Given the description of an element on the screen output the (x, y) to click on. 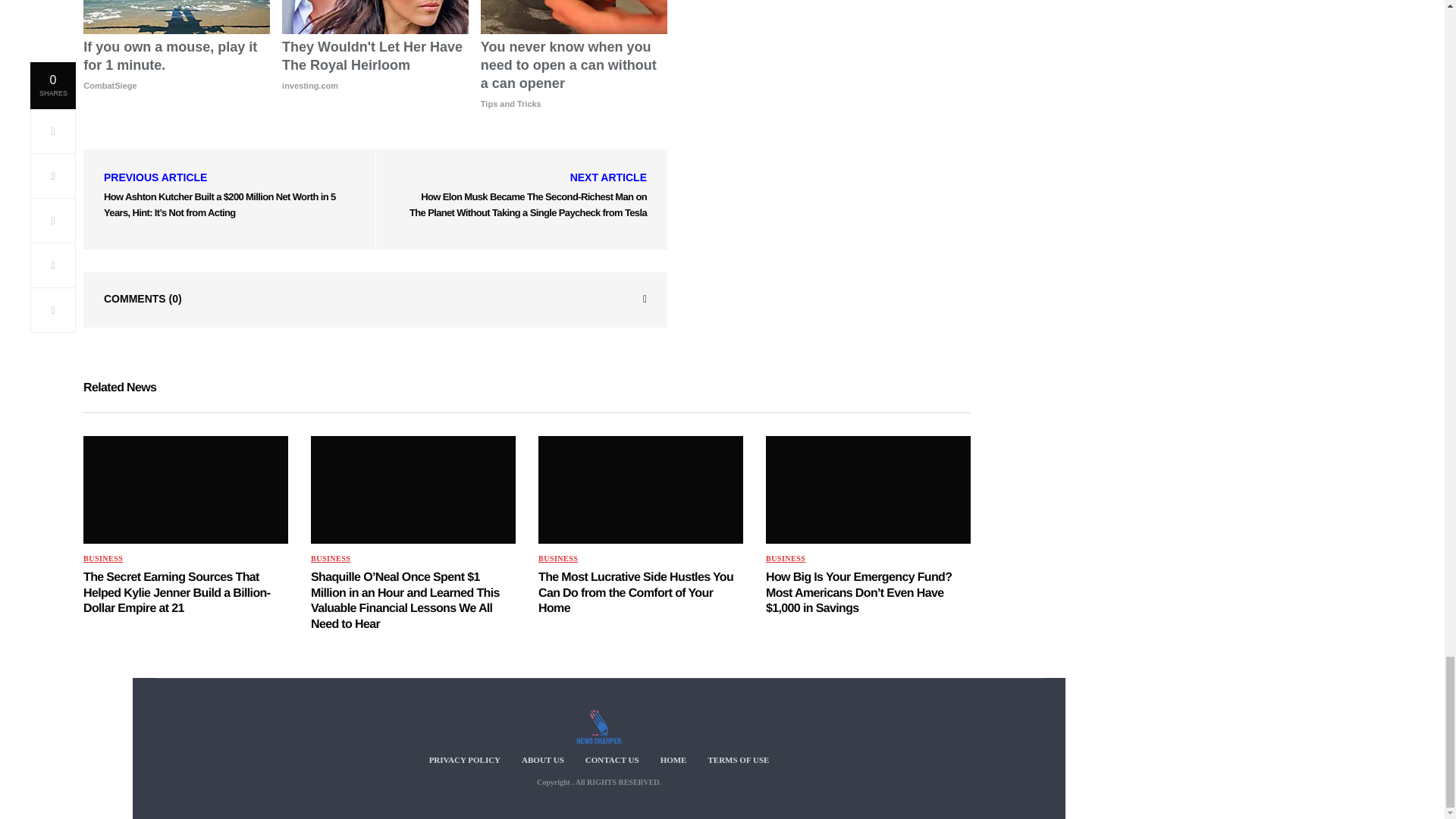
They Wouldn't Let Her Have The Royal Heirloom (375, 17)
They Wouldn't Let Her Have The Royal Heirloom (375, 66)
If you own a mouse, play it for 1 minute. (175, 17)
If you own a mouse, play it for 1 minute. (175, 66)
